Given the description of an element on the screen output the (x, y) to click on. 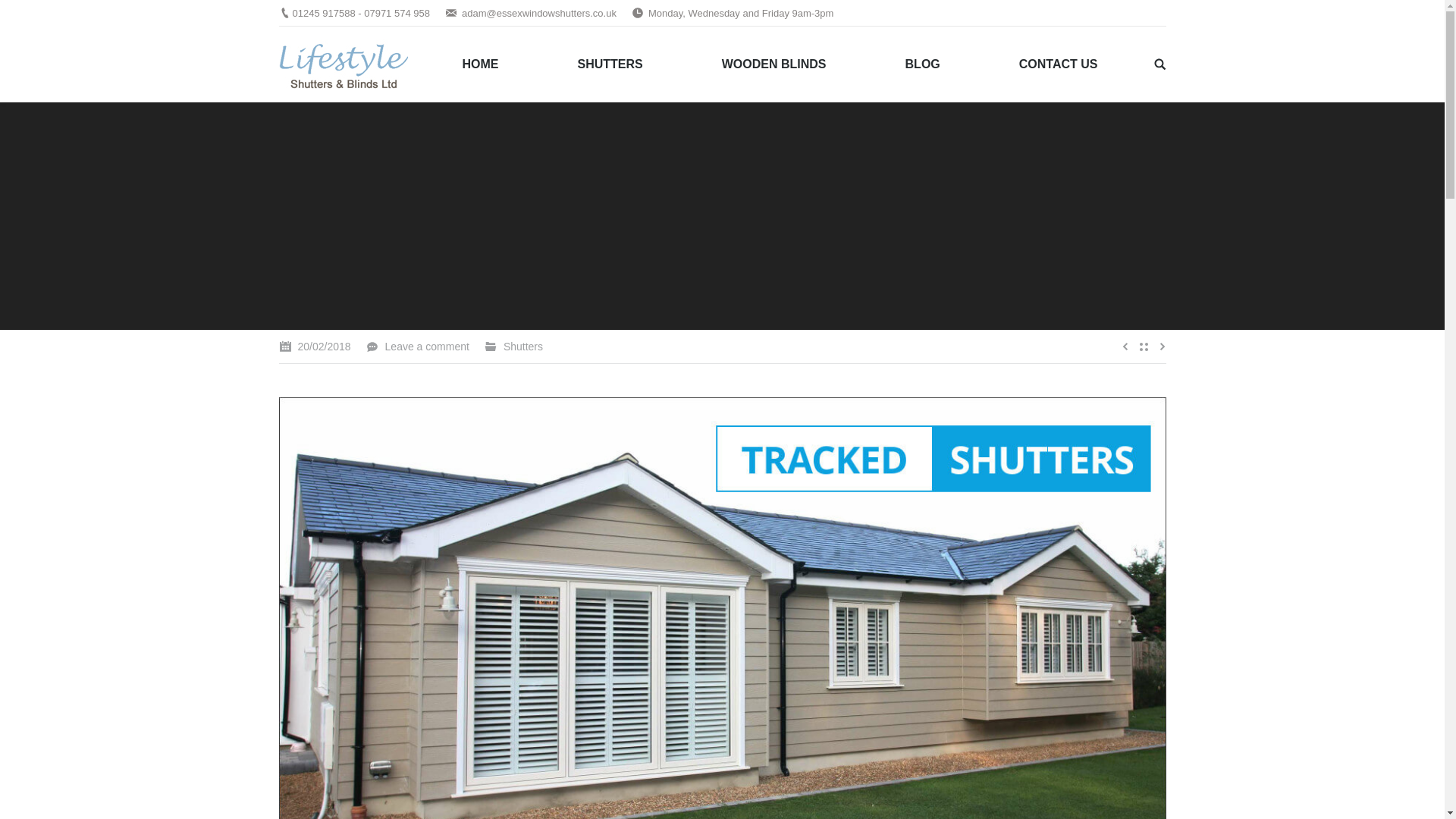
Go! (19, 15)
CONTACT US (1059, 64)
WOODEN BLINDS (773, 64)
Leave a comment (417, 346)
Shutters (523, 346)
BLOG (922, 64)
10:23 (314, 346)
HOME (480, 64)
SHUTTERS (609, 64)
